Given the description of an element on the screen output the (x, y) to click on. 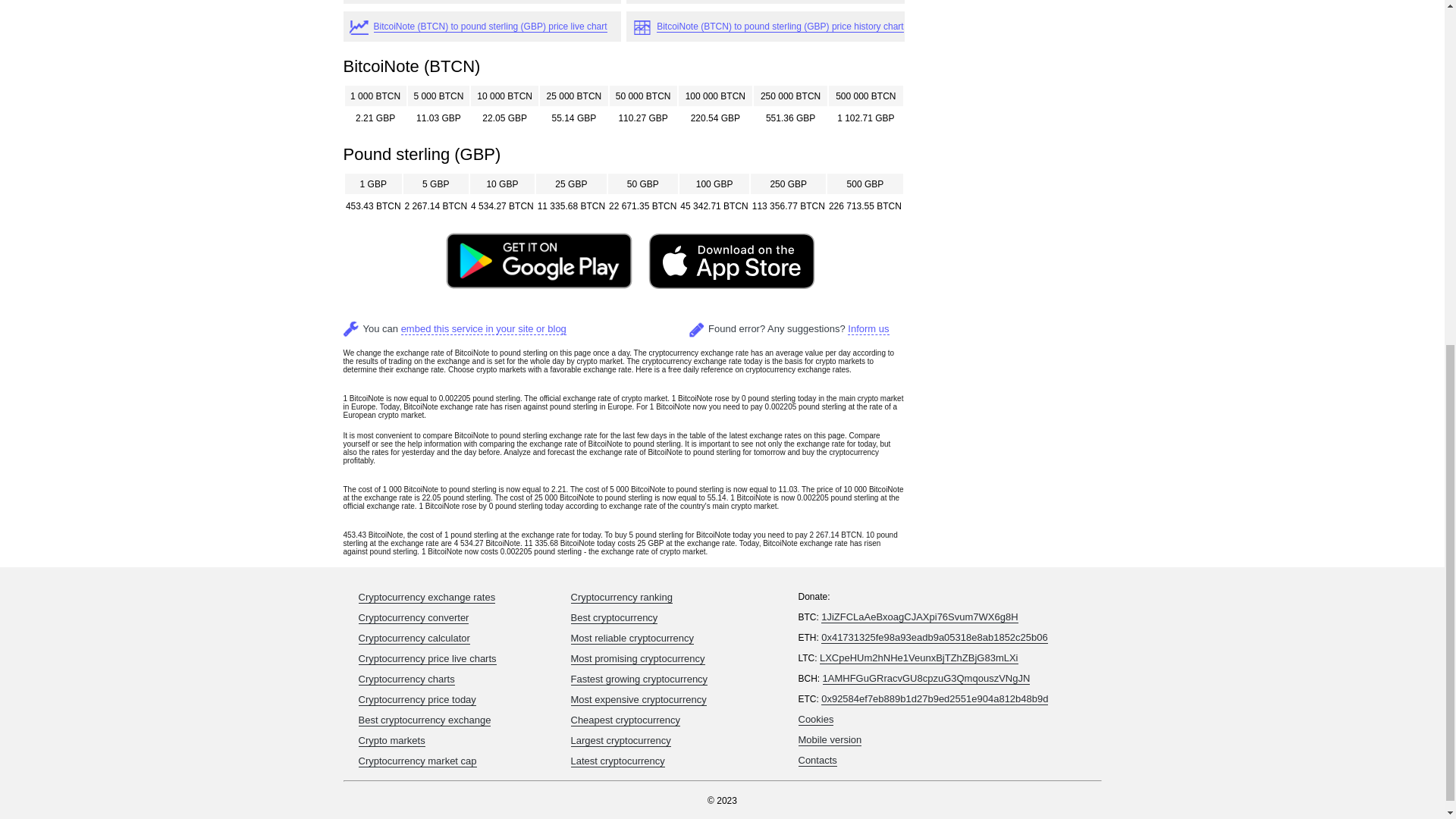
Cryptocurrency converter (413, 617)
embed this service in your site or blog (483, 328)
Cryptocurrency charts (406, 679)
Best cryptocurrency exchange (424, 720)
Most expensive cryptocurrency (638, 699)
Best cryptocurrency (614, 617)
Most reliable cryptocurrency (632, 638)
Cryptocurrency ranking (620, 597)
Most promising cryptocurrency (637, 658)
Cryptocurrency exchange rates (426, 597)
Cryptocurrency exchange rates (426, 597)
Largest cryptocurrency (619, 740)
Cryptocurrency price live charts (427, 658)
Inform us (867, 328)
Fastest growing cryptocurrency (638, 679)
